Given the description of an element on the screen output the (x, y) to click on. 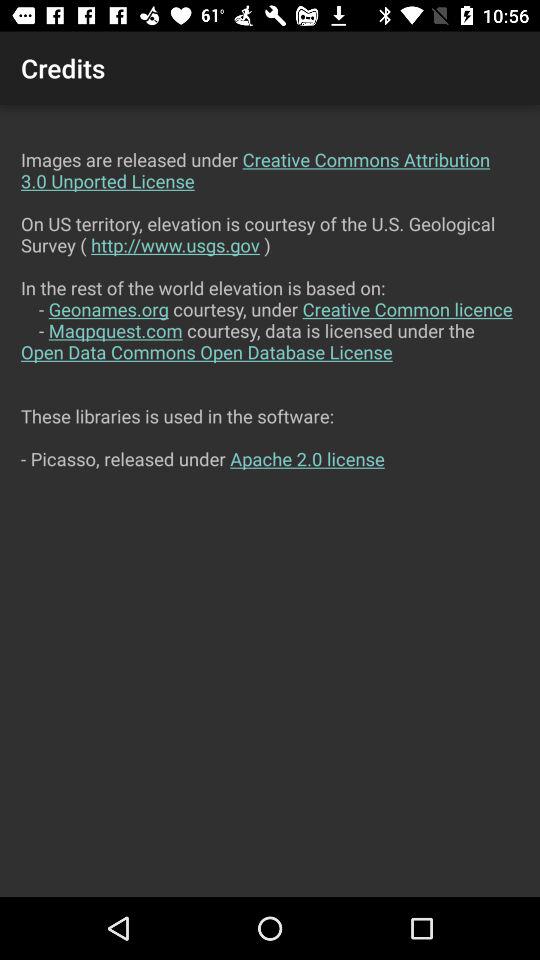
click the images are released item (270, 500)
